Given the description of an element on the screen output the (x, y) to click on. 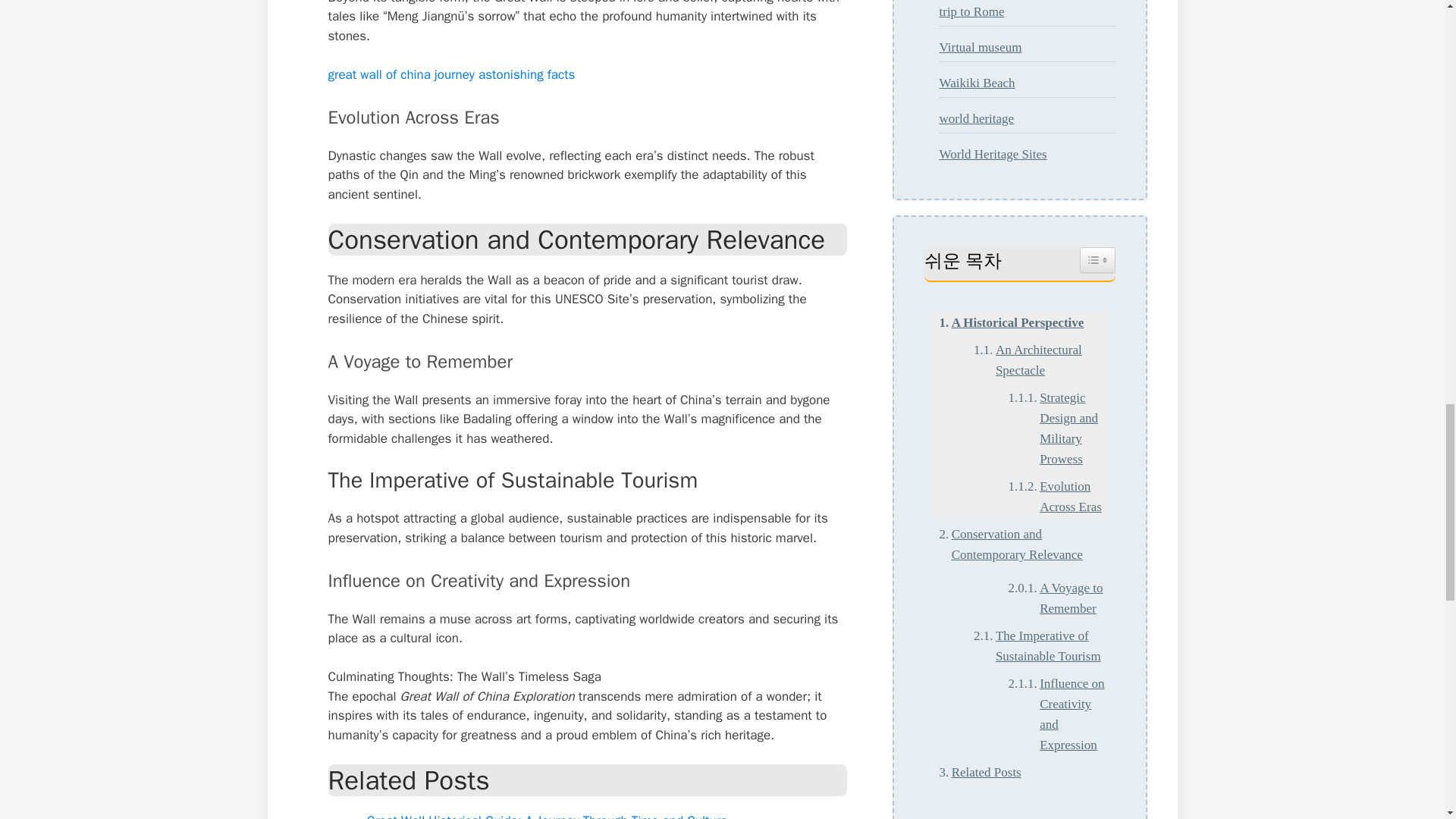
A Voyage to Remember (1054, 598)
Evolution Across Eras (1054, 495)
A Historical Perspective (1007, 322)
Strategic Design and Military Prowess (1054, 428)
Conservation and Contemporary Relevance (1018, 544)
An Architectural Spectacle (1037, 359)
great wall of china journey astonishing facts (451, 74)
